Given the description of an element on the screen output the (x, y) to click on. 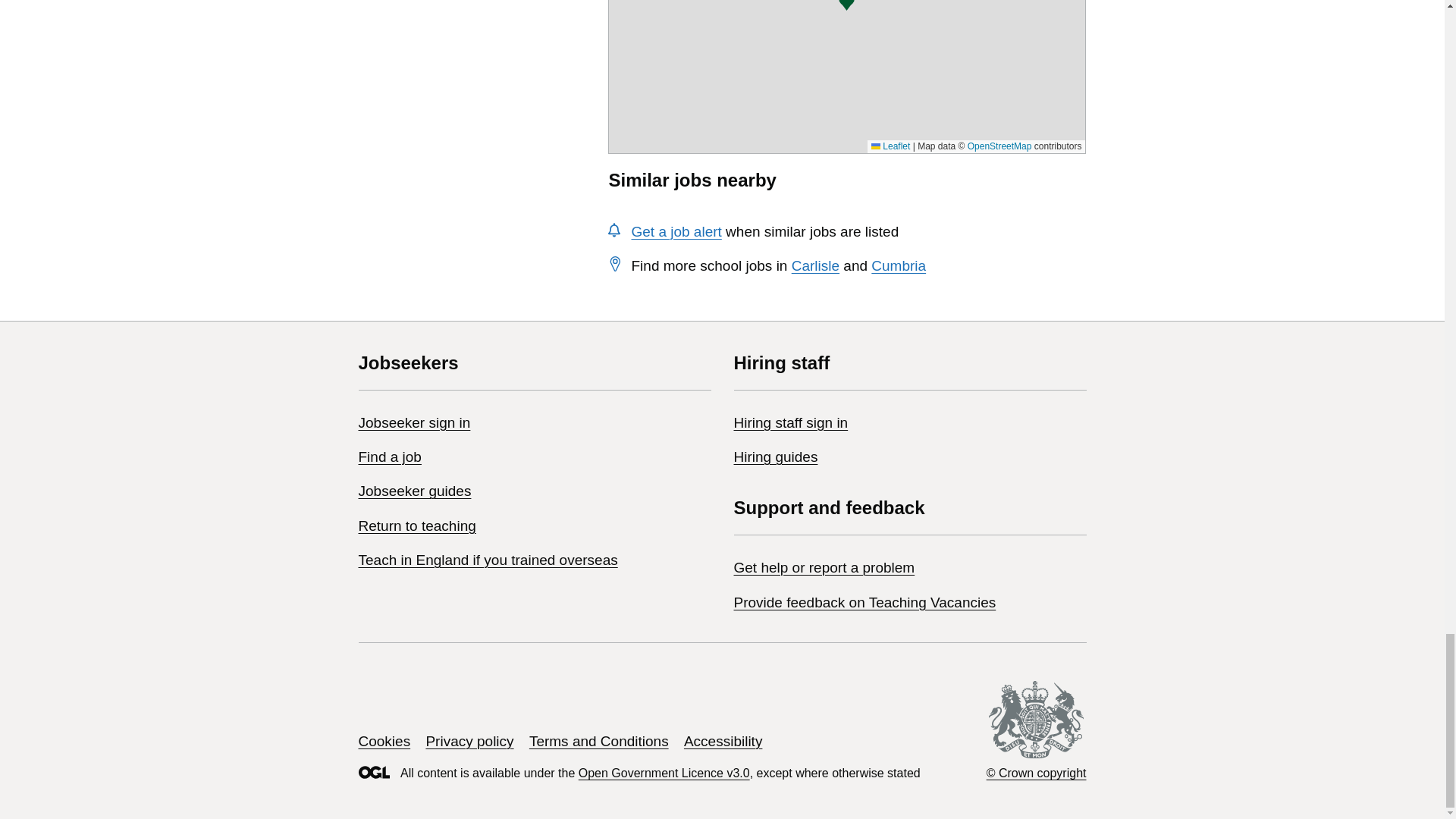
Find a job (389, 456)
Cumbria (898, 265)
Hiring staff sign in (790, 422)
Get a job alert (675, 231)
Teach in England if you trained overseas (487, 560)
Jobseeker guides (414, 490)
Vacancy location (847, 6)
Cookies (384, 741)
Provide feedback on Teaching Vacancies (864, 602)
Hiring guides (775, 456)
